Given the description of an element on the screen output the (x, y) to click on. 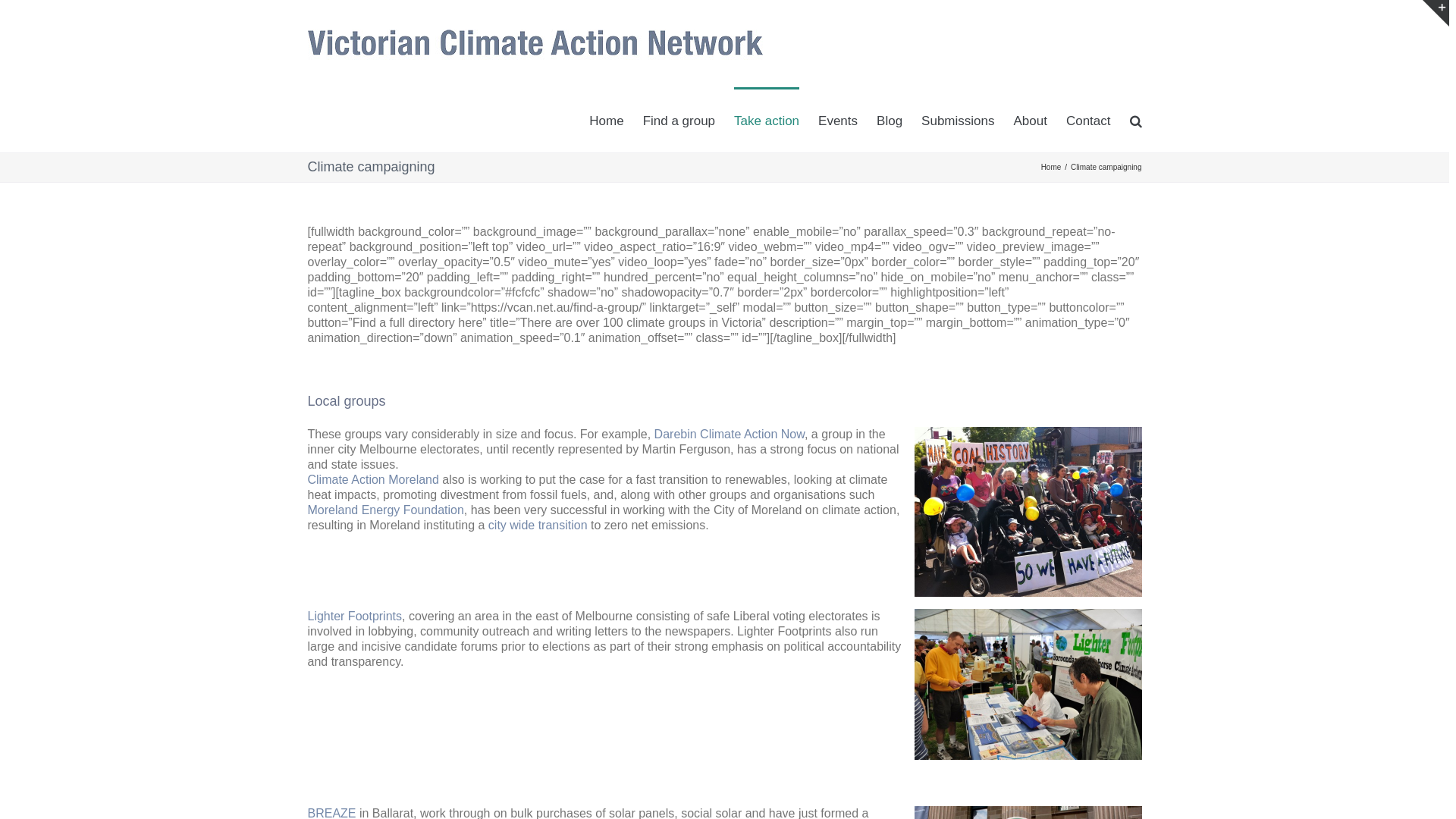
Home Element type: text (1051, 167)
Find a group Element type: text (679, 119)
Lighter Footprints Element type: text (354, 615)
Events Element type: text (837, 119)
Submissions Element type: text (957, 119)
Home Element type: text (606, 119)
Contact Element type: text (1088, 119)
Climate Action Moreland Element type: text (373, 479)
Take action Element type: text (766, 119)
About Element type: text (1029, 119)
Moreland Energy Foundation Element type: text (385, 509)
Blog Element type: text (889, 119)
Darebin Climate Action Now Element type: text (729, 433)
city wide transition Element type: text (537, 524)
